Given the description of an element on the screen output the (x, y) to click on. 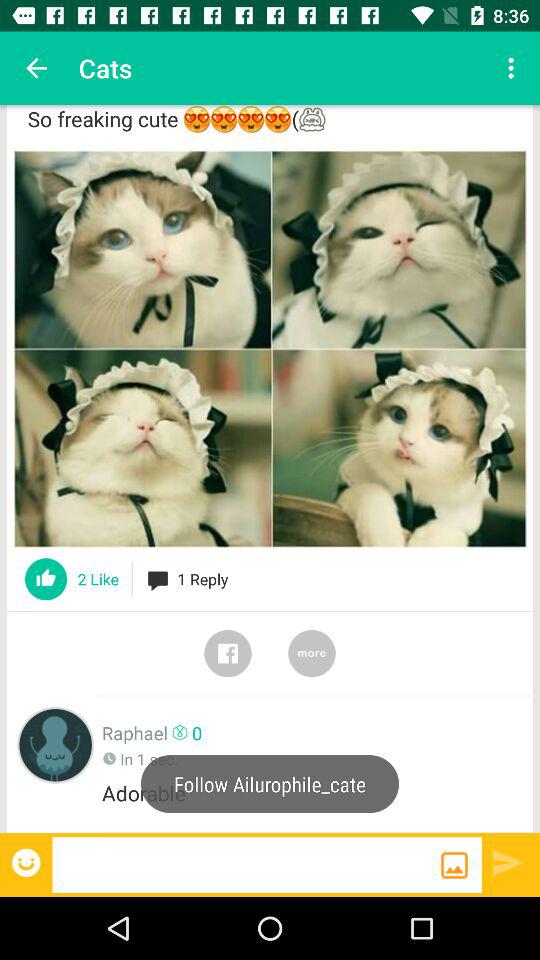
add emoji (28, 862)
